Given the description of an element on the screen output the (x, y) to click on. 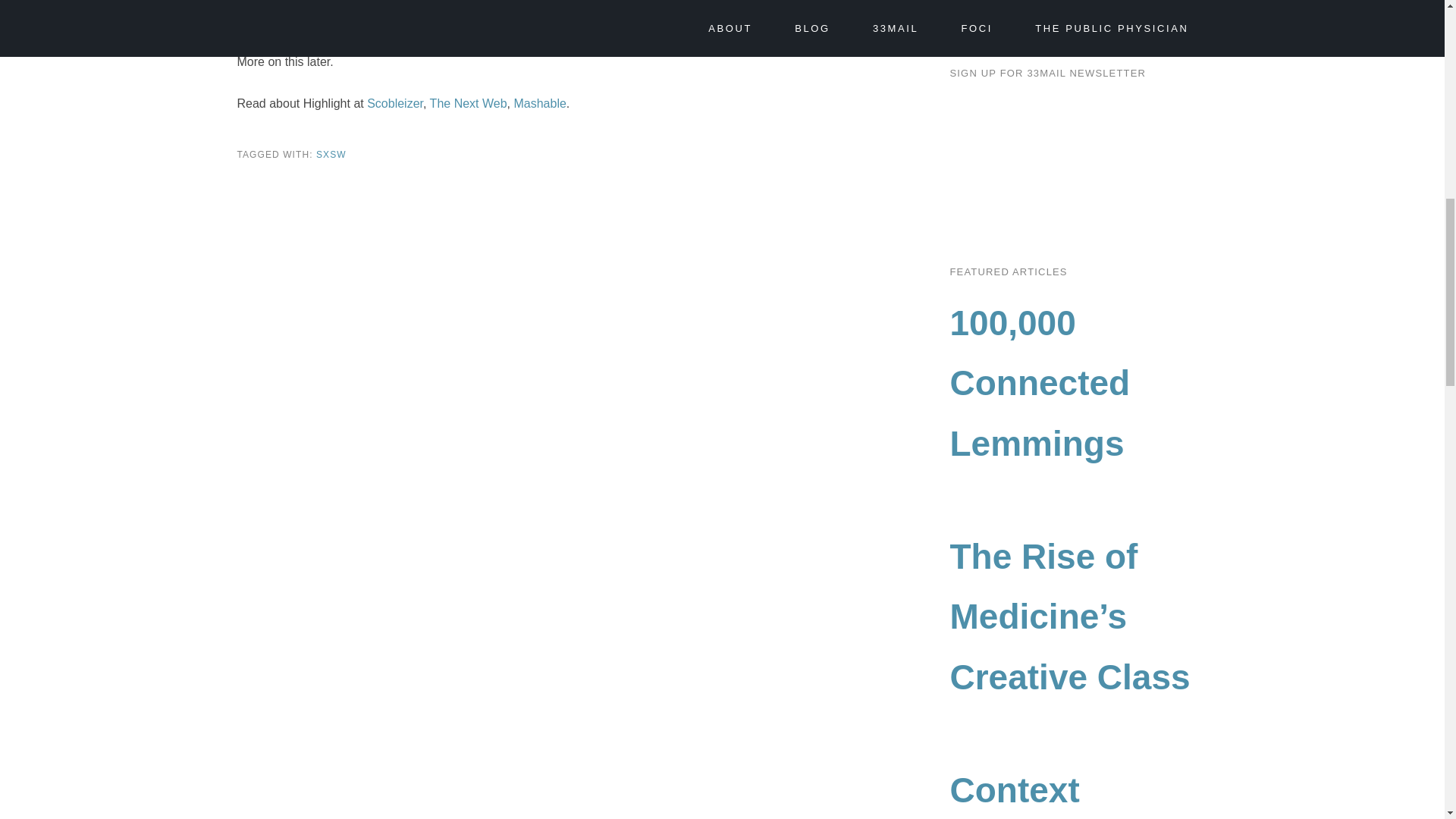
SXSW (330, 154)
App Store. (500, 19)
The Next Web (467, 103)
Mashable (539, 103)
Scobleizer (394, 103)
